Given the description of an element on the screen output the (x, y) to click on. 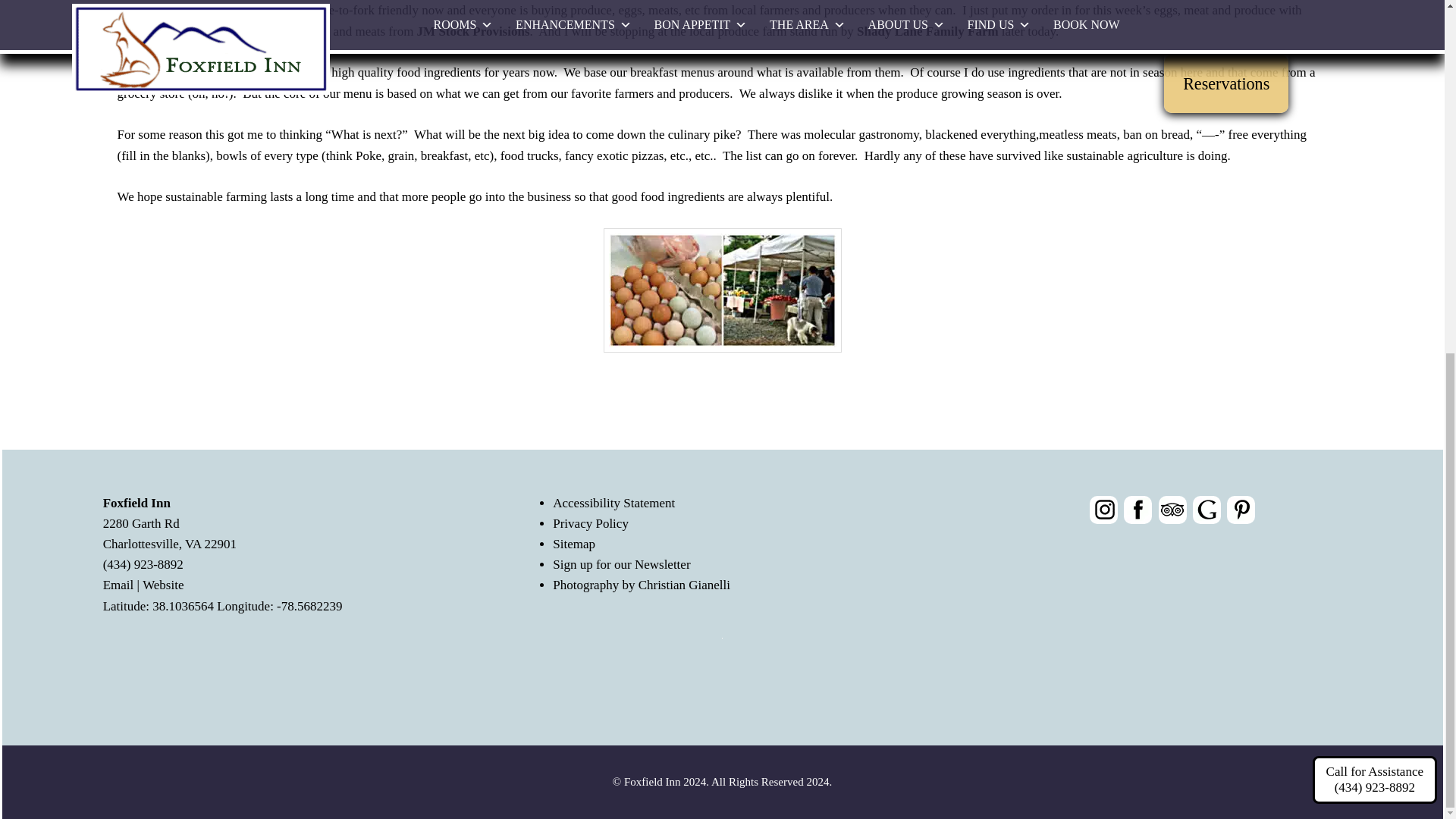
Read our Google Reviews (1206, 510)
Like us on Facebook (1137, 510)
Read our TripAdvisor Reviews (1172, 510)
See us on Instagram (1103, 510)
